Given the description of an element on the screen output the (x, y) to click on. 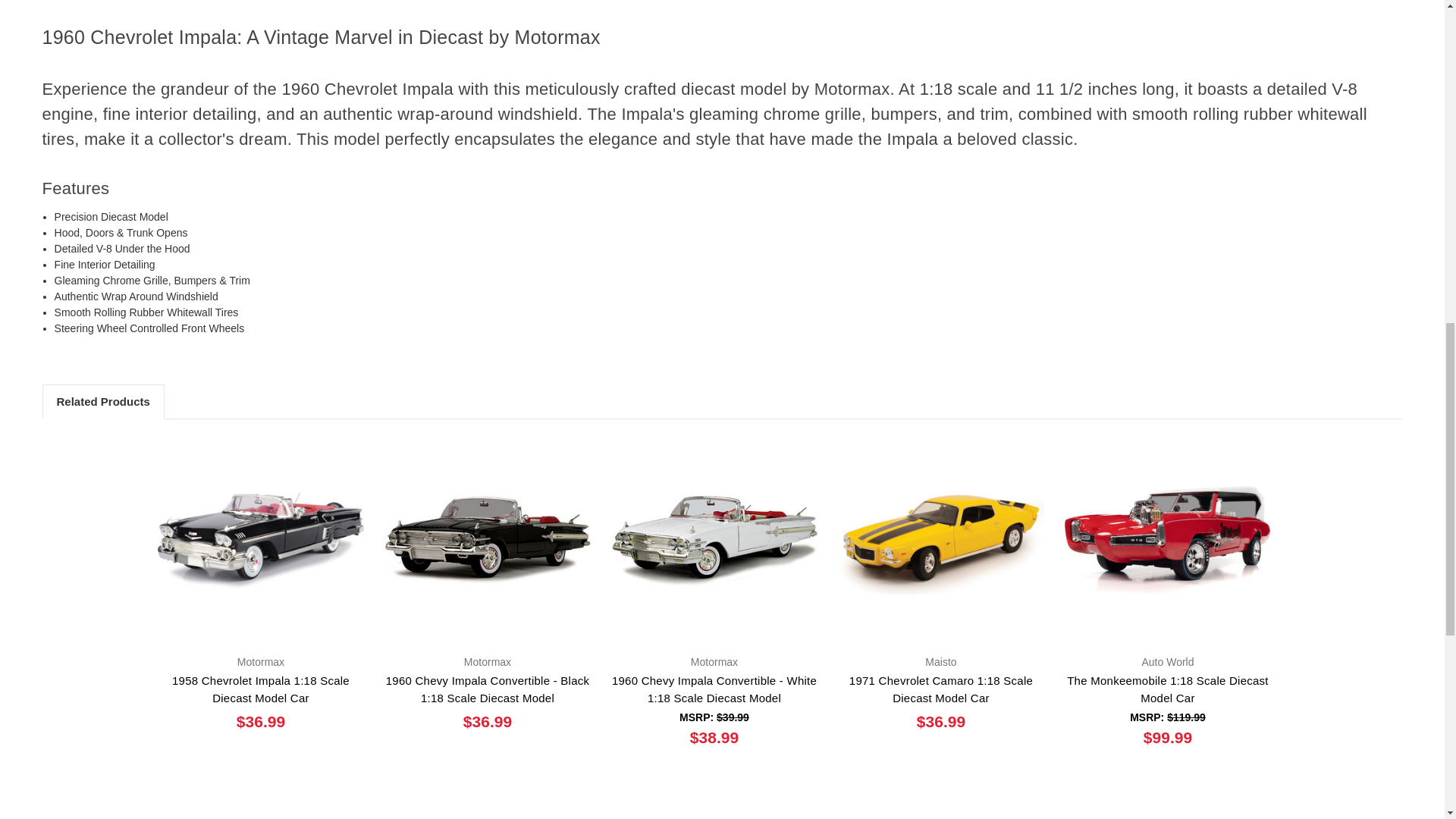
1960 Chevy Impala Convertible - Black Main Image (487, 540)
1958 Chevrolet Impala Main Image (260, 540)
The Monkeemobile Main Image (1167, 540)
1971 Chevrolet Camaro Main Image (940, 540)
1960 Chevy Impala Convertible - White Main Image (713, 540)
